Given the description of an element on the screen output the (x, y) to click on. 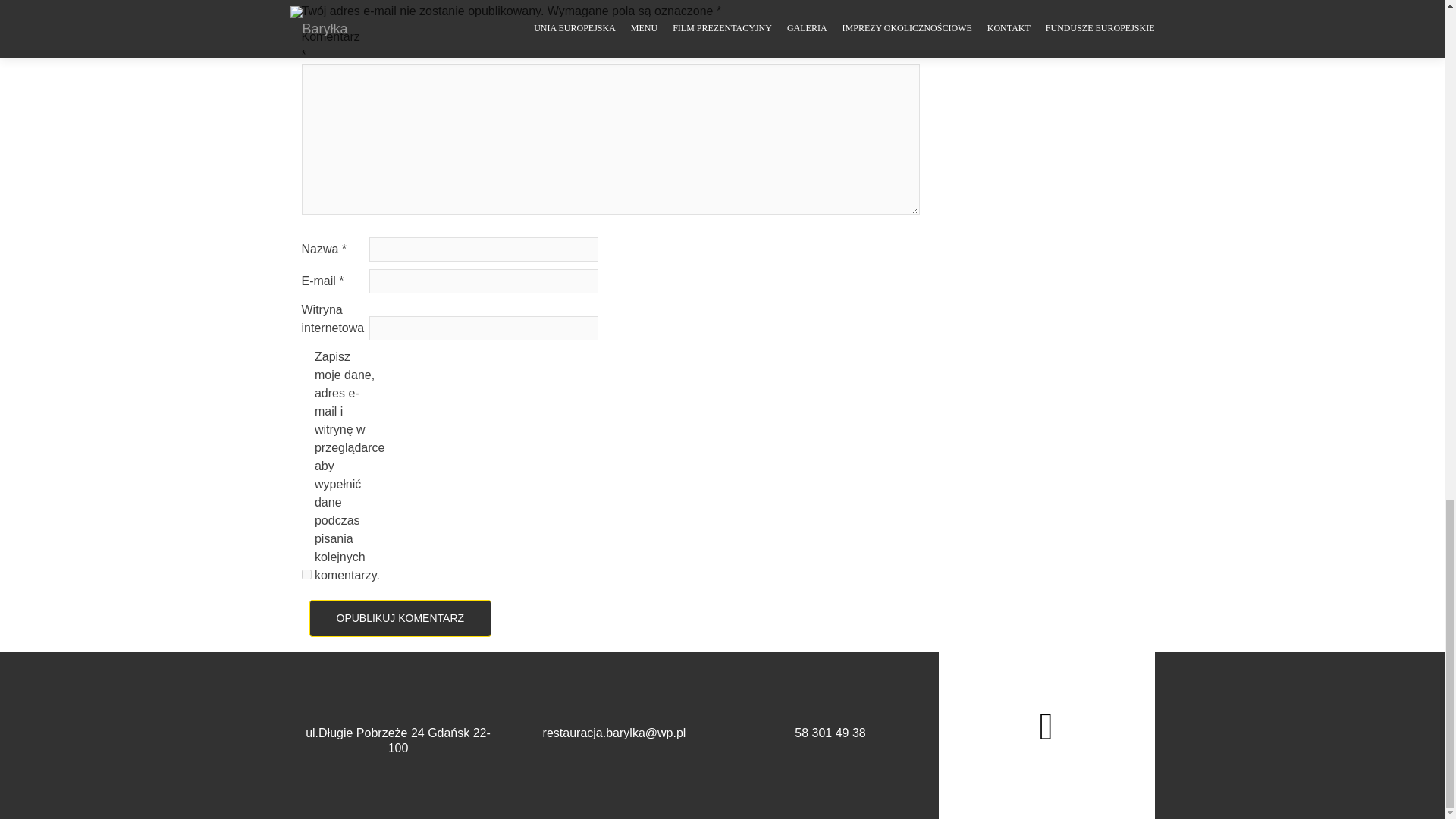
Opublikuj komentarz (400, 618)
Opublikuj komentarz (400, 618)
yes (306, 574)
